Given the description of an element on the screen output the (x, y) to click on. 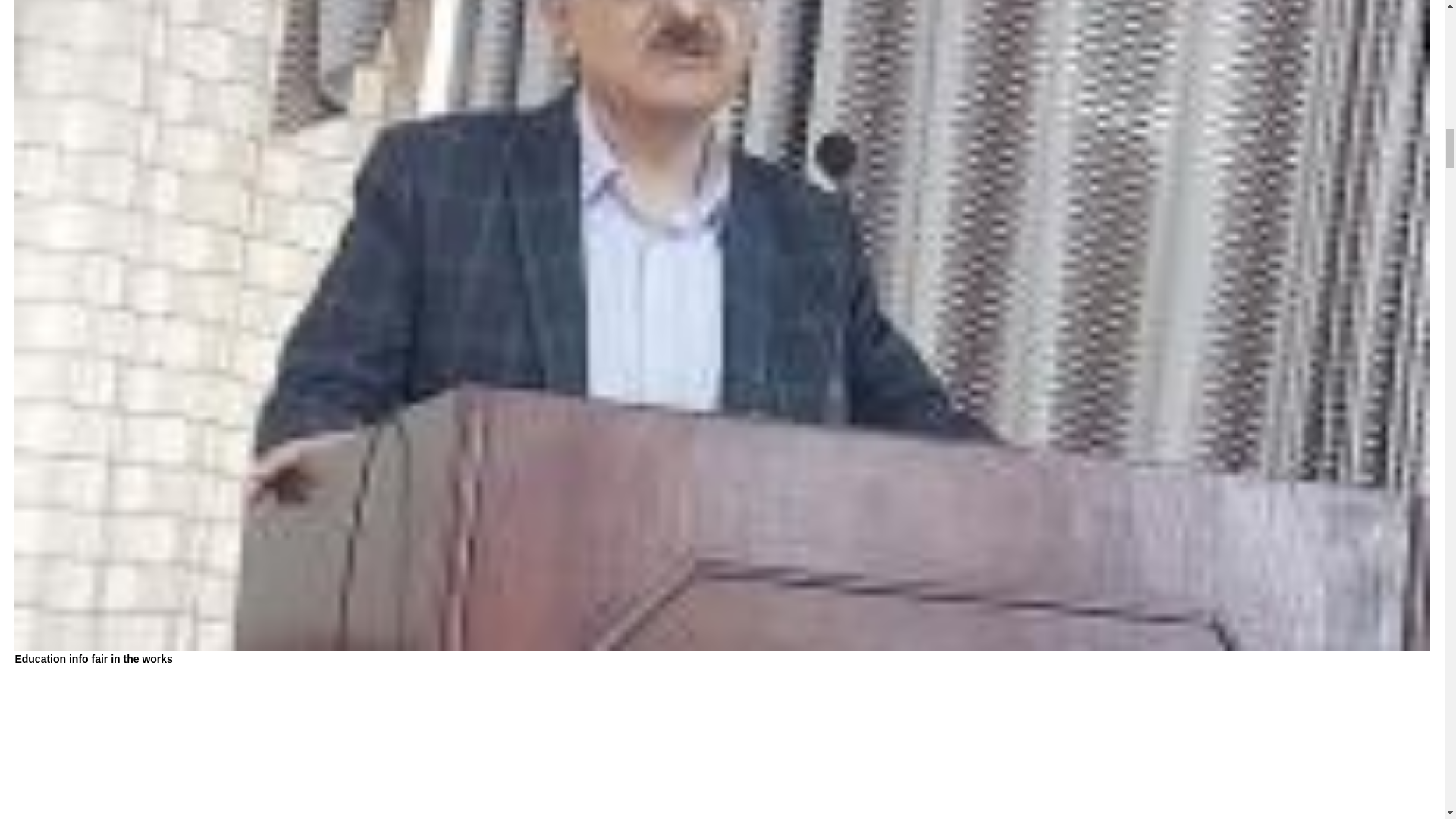
Education info fair in the works (92, 658)
Education info fair in the works (92, 658)
